Given the description of an element on the screen output the (x, y) to click on. 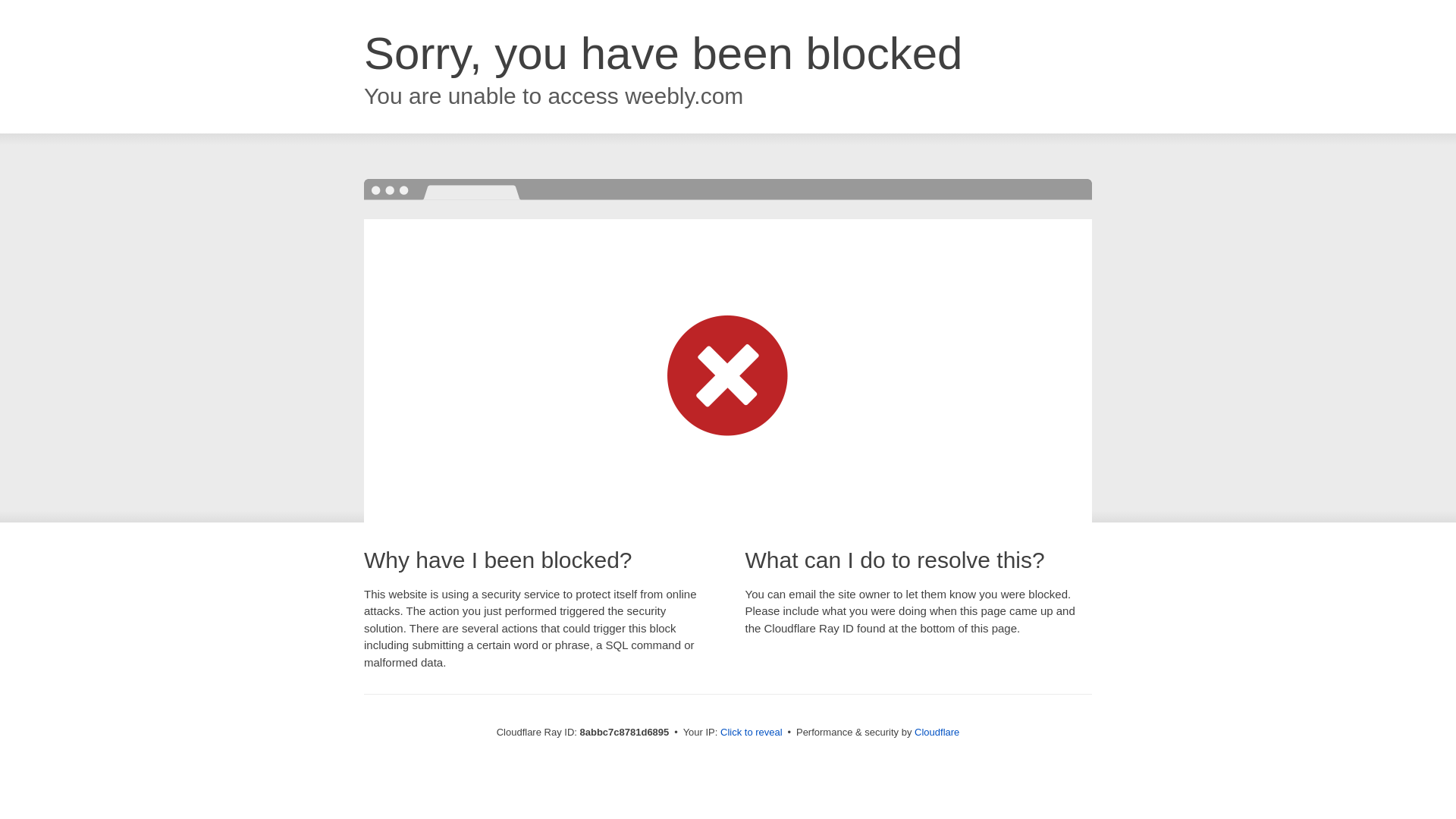
Cloudflare (936, 731)
Click to reveal (751, 732)
